Given the description of an element on the screen output the (x, y) to click on. 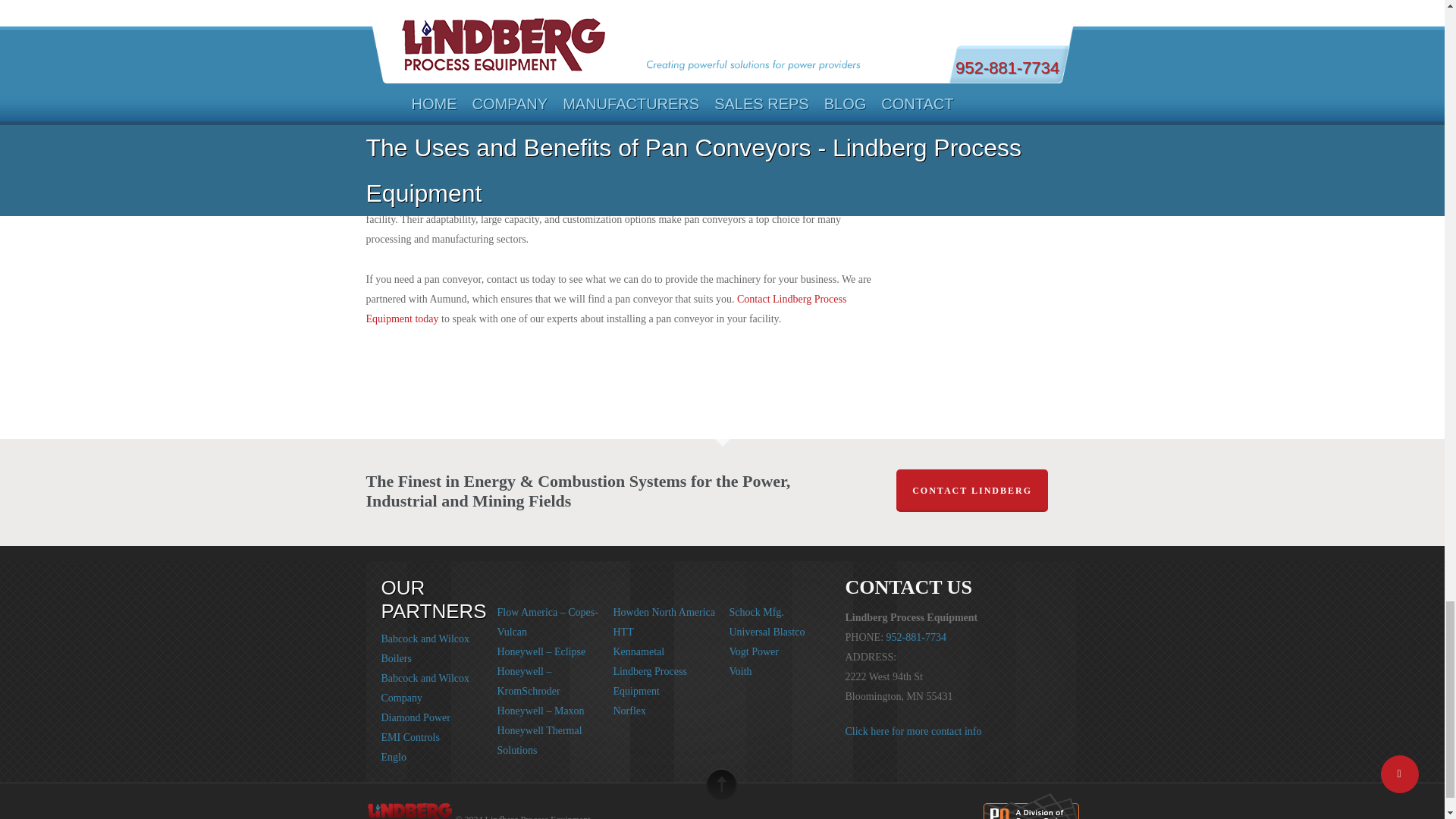
Contact Lindberg Process Equipment today (605, 308)
Babcock and Wilcox Boilers (424, 648)
Babcock and Wilcox Company (424, 687)
CONTACT LINDBERG (972, 490)
EMI Controls (409, 737)
Englo (393, 756)
Diamond Power (414, 717)
